Given the description of an element on the screen output the (x, y) to click on. 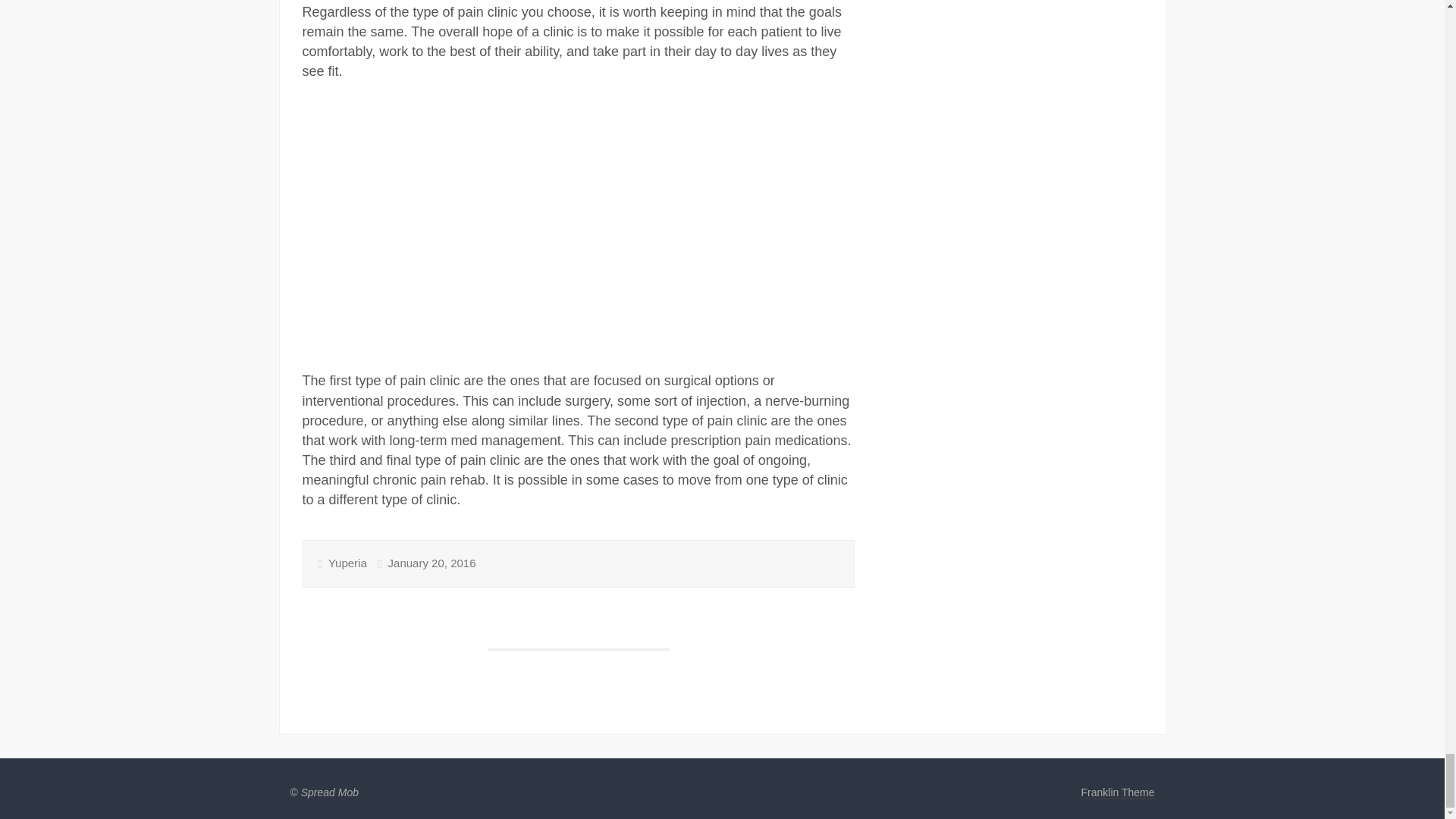
Spread Mob (329, 792)
Spread Mob (329, 792)
Franklin WordPress Theme (1117, 792)
Franklin Theme (1117, 792)
